Given the description of an element on the screen output the (x, y) to click on. 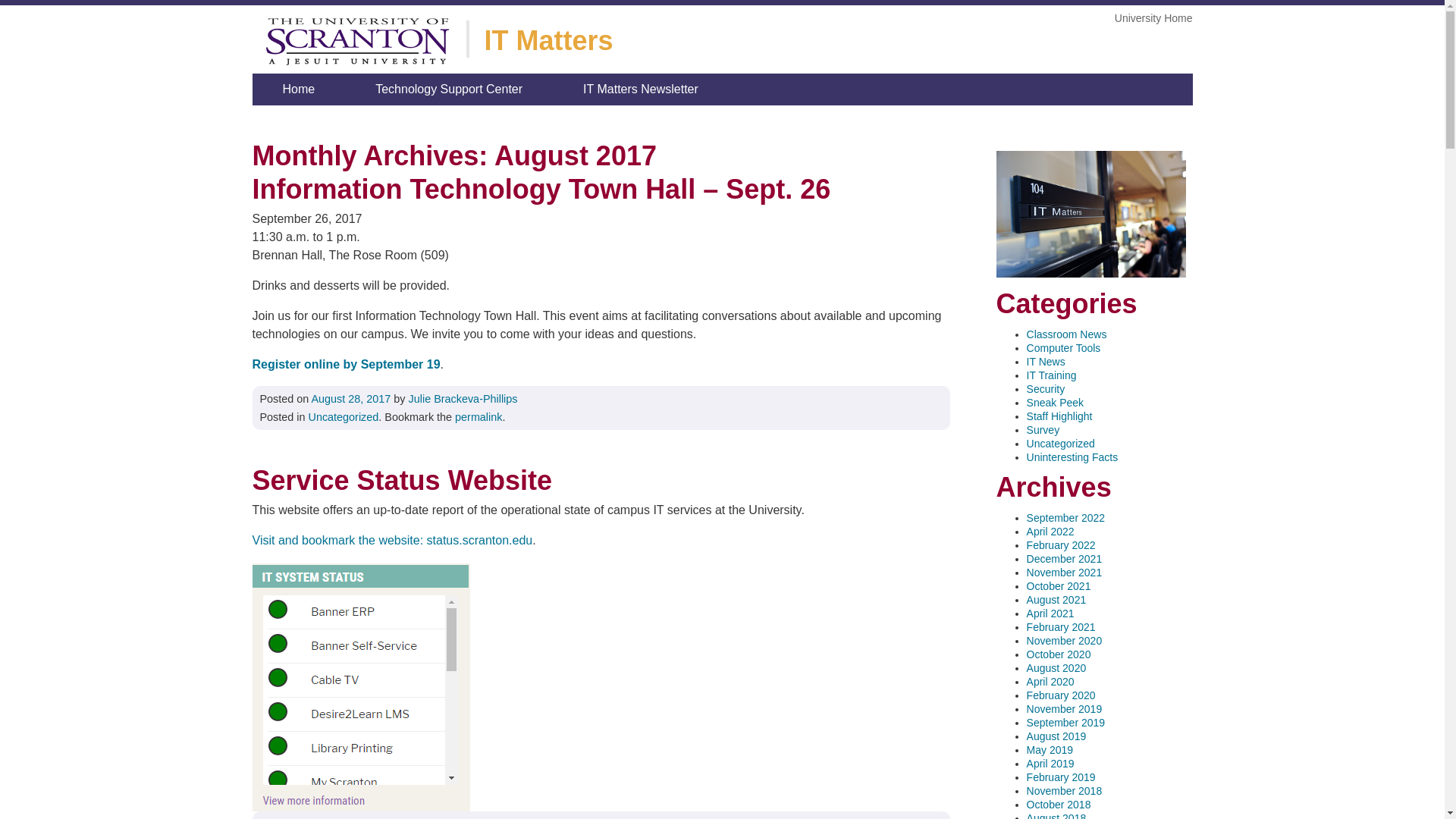
Home (298, 89)
Visit and bookmark the website: status.scranton.edu (391, 540)
View all posts by Julie Brackeva-Phillips (463, 398)
Uncategorized (342, 417)
Service Status Website (600, 480)
Register online by September 19 (345, 364)
permalink (478, 417)
